Given the description of an element on the screen output the (x, y) to click on. 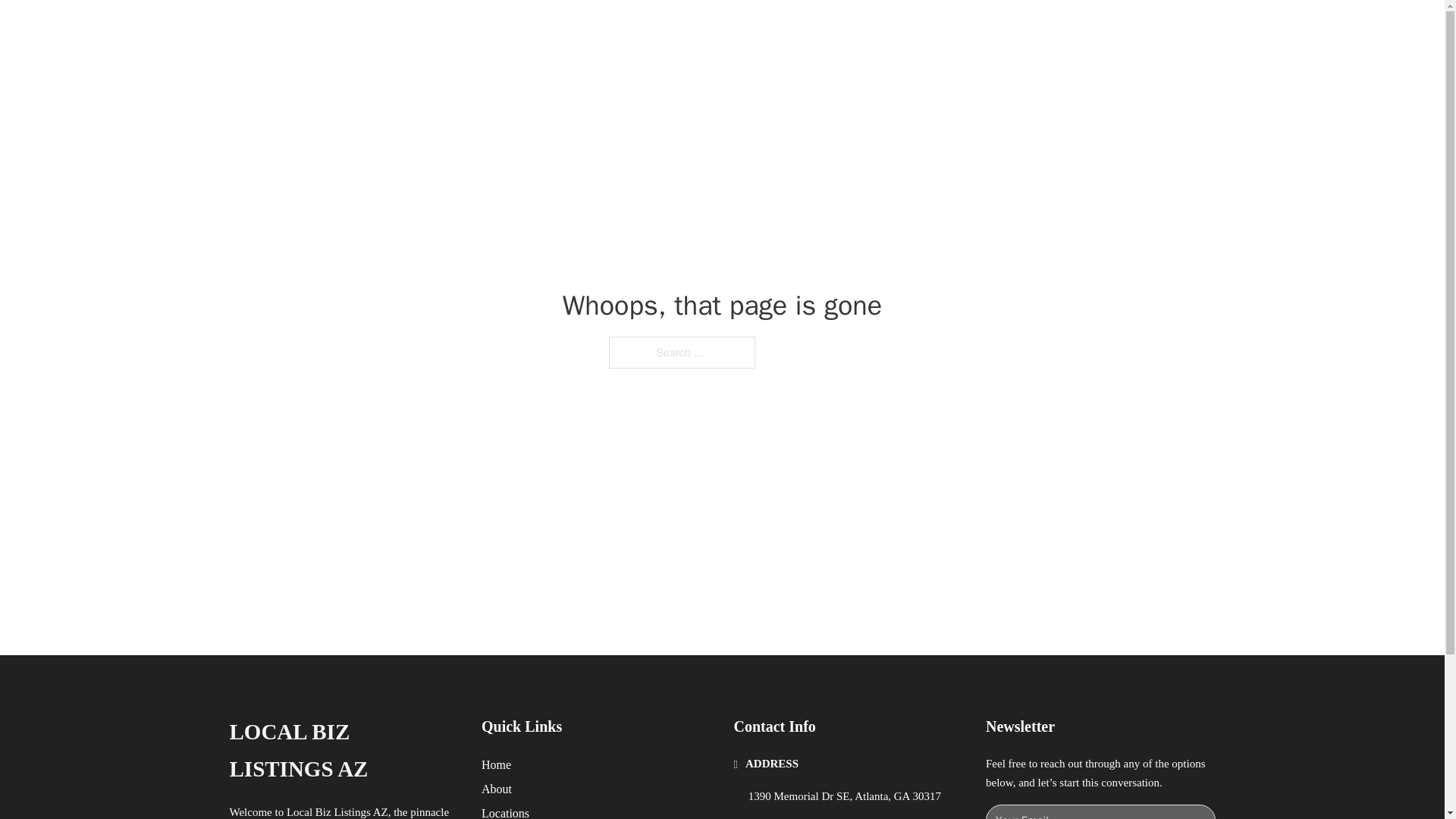
HOME (919, 29)
Home (496, 764)
LOCATIONS (990, 29)
About (496, 788)
LOCAL BIZ LISTINGS AZ (343, 750)
Locations (505, 811)
